Given the description of an element on the screen output the (x, y) to click on. 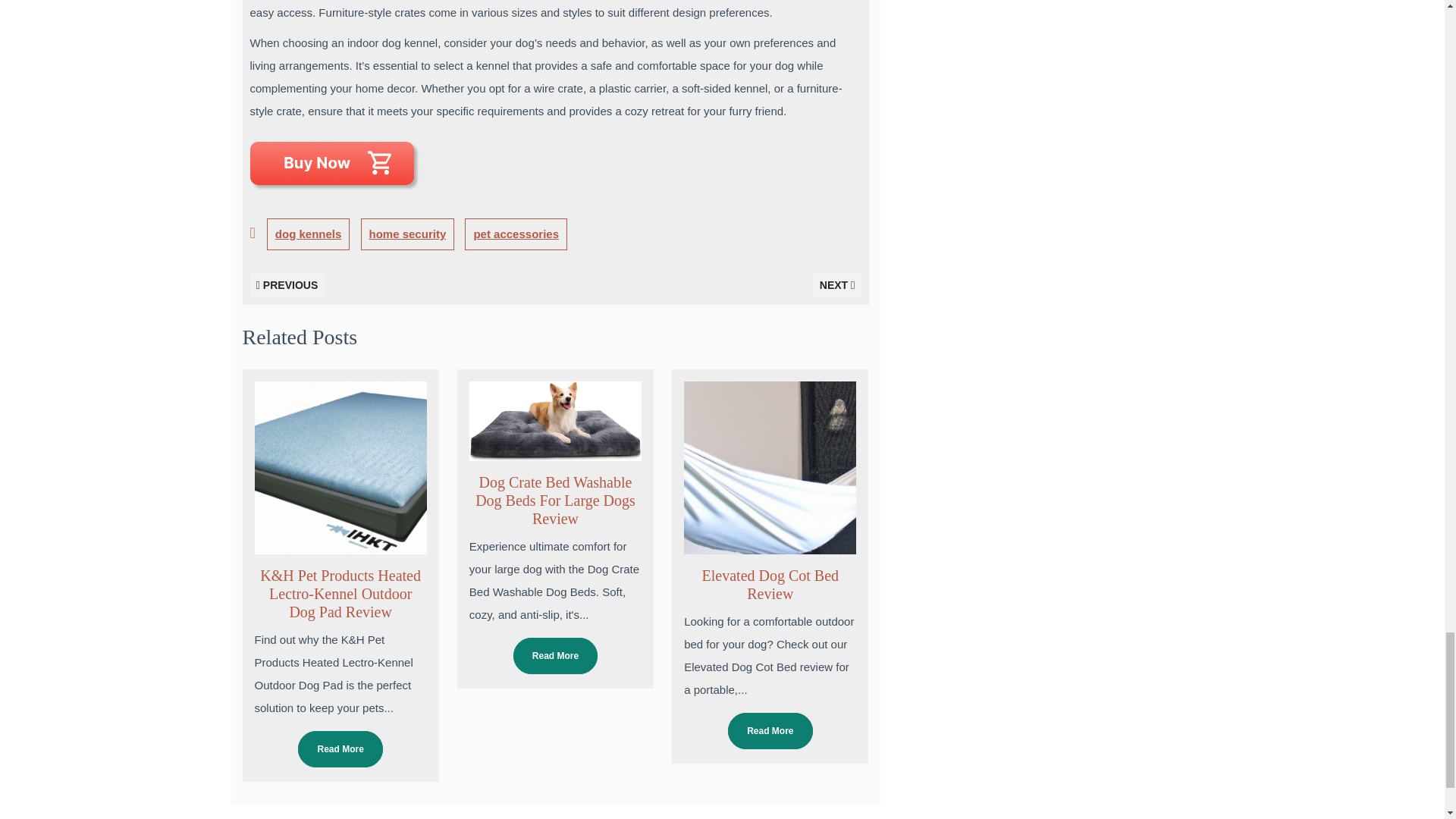
Dog Crate Bed Washable Dog Beds For Large Dogs Review (555, 500)
Read More (339, 749)
Read More (770, 730)
home security (407, 234)
dog kennels (308, 234)
NEXT (837, 284)
Read More (554, 656)
Elevated Dog Cot Bed Review (770, 584)
